Given the description of an element on the screen output the (x, y) to click on. 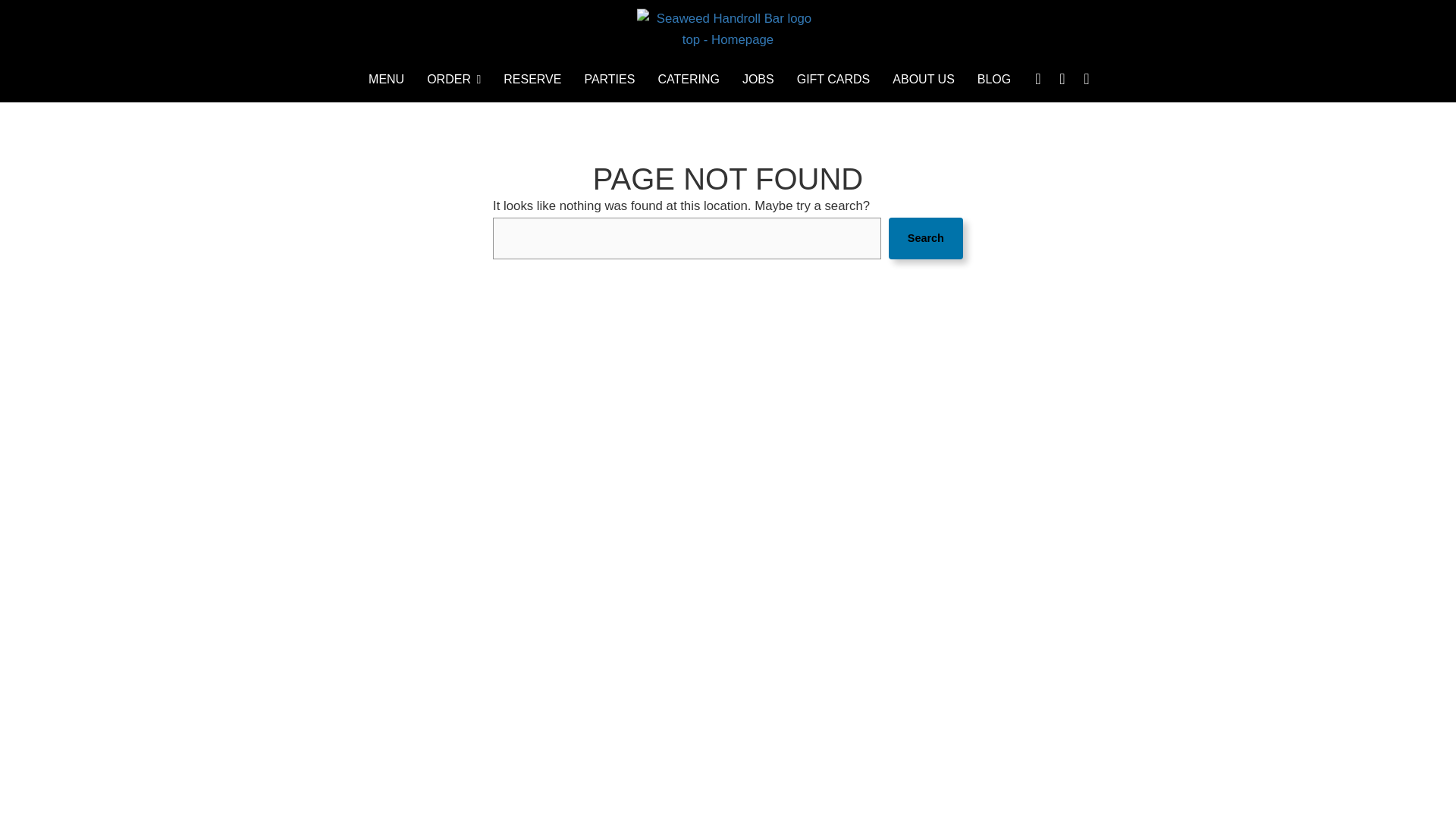
GIFT CARDS (834, 79)
MENU (385, 79)
BLOG (994, 79)
PARTIES (609, 79)
ABOUT US (923, 79)
CATERING (688, 79)
ORDER (453, 79)
Search (925, 238)
RESERVE (532, 79)
JOBS (758, 79)
